Given the description of an element on the screen output the (x, y) to click on. 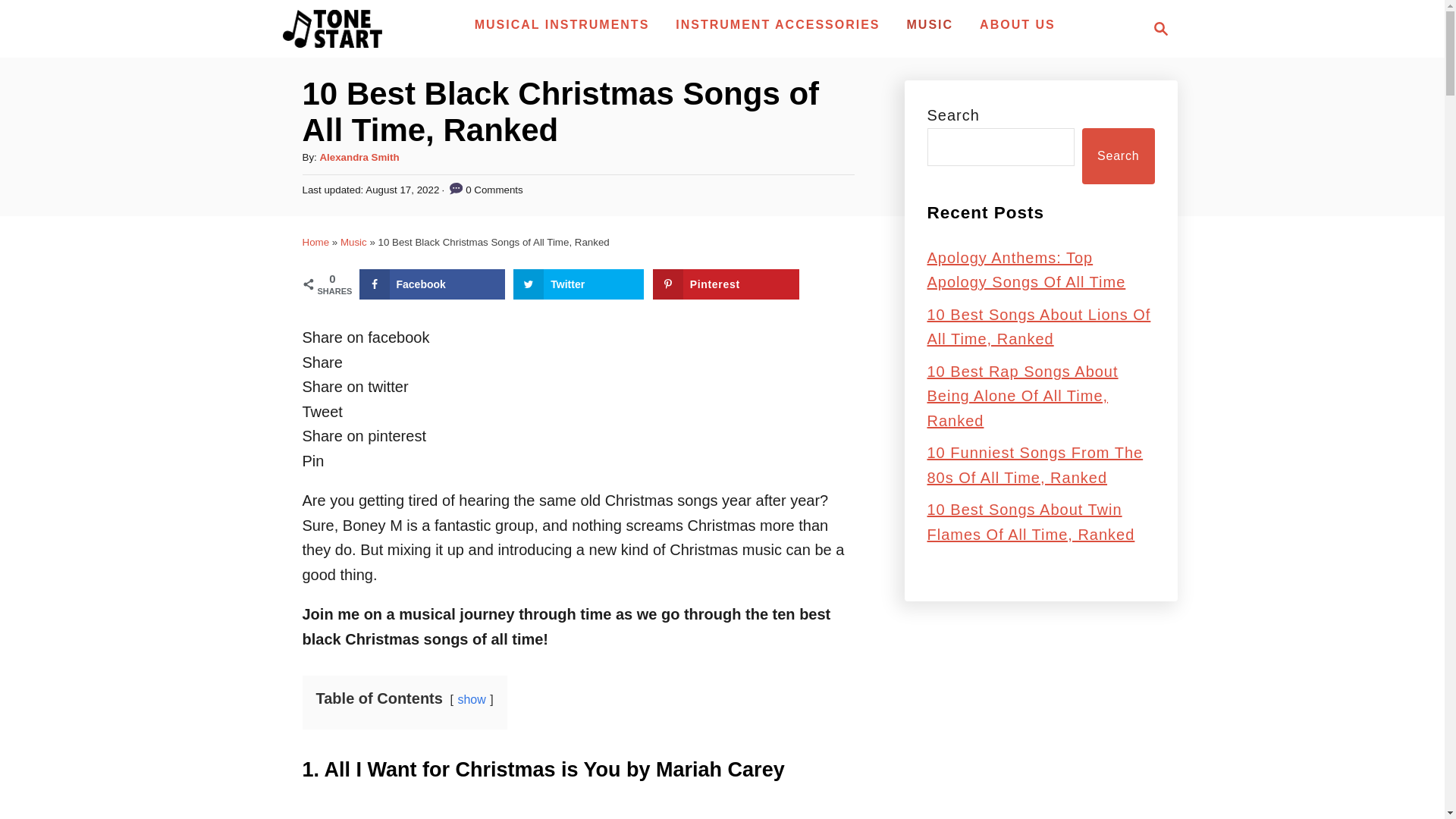
INSTRUMENT ACCESSORIES (777, 24)
Share on Facebook (432, 284)
MUSICAL INSTRUMENTS (562, 24)
show (470, 698)
Home (315, 242)
MUSIC (929, 24)
Alexandra Smith (358, 156)
Pinterest (725, 284)
Facebook (432, 284)
Music (353, 242)
ABOUT US (1017, 24)
Save to Pinterest (725, 284)
Tone Start (331, 28)
Twitter (578, 284)
